Given the description of an element on the screen output the (x, y) to click on. 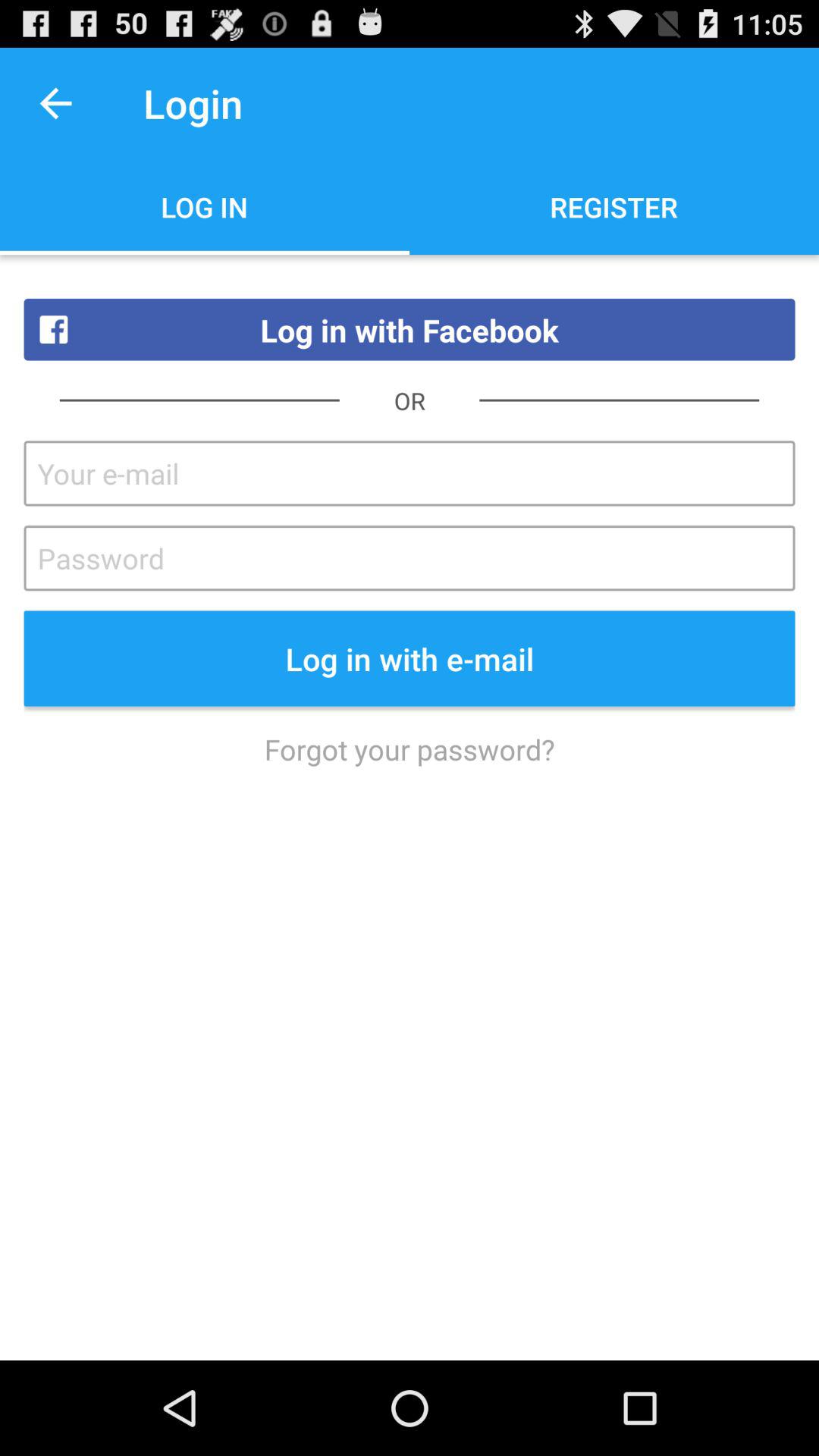
enter password (409, 557)
